Given the description of an element on the screen output the (x, y) to click on. 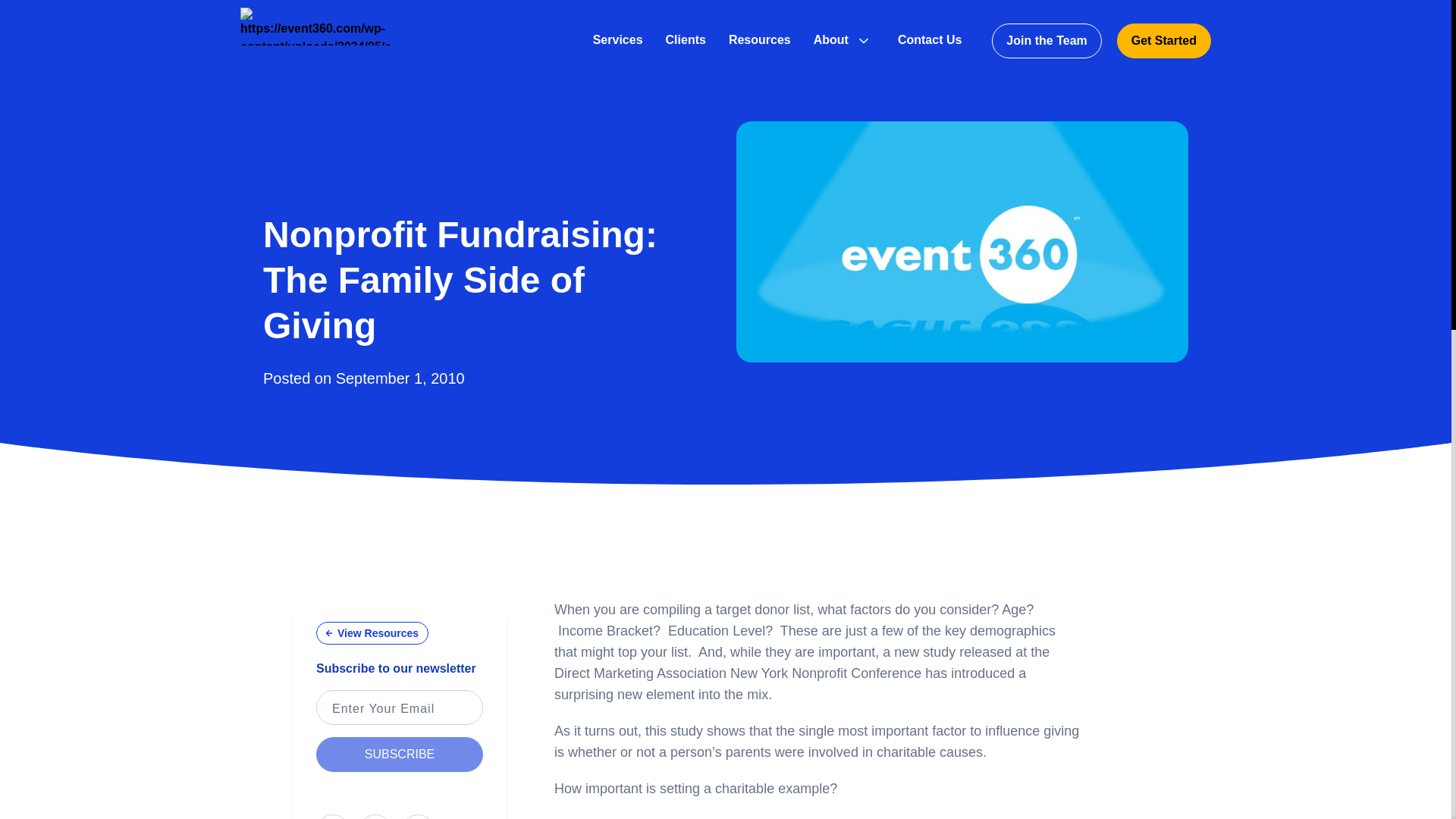
Contact Us (929, 39)
Resources (759, 39)
SUBSCRIBE (399, 754)
Get Started (1163, 40)
Clients (685, 39)
View Resources (371, 632)
Join the Team (1045, 40)
About (830, 39)
Services (617, 39)
